Given the description of an element on the screen output the (x, y) to click on. 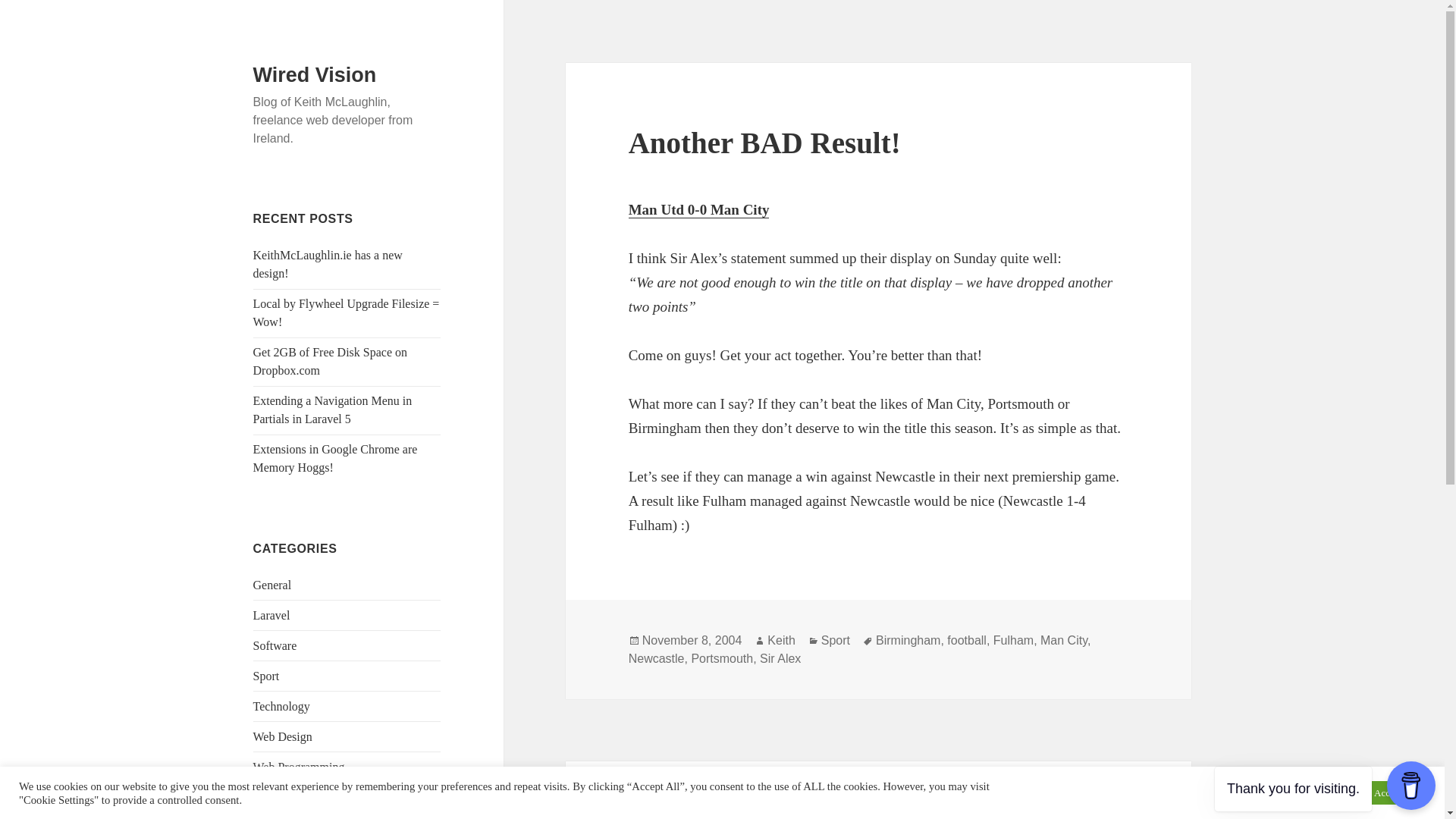
Technology (281, 706)
Web Programming (299, 766)
Extensions in Google Chrome are Memory Hoggs! (335, 458)
Software (275, 645)
Get 2GB of Free Disk Space on Dropbox.com (330, 360)
Sport (266, 675)
Wired Vision (315, 74)
Web Design (283, 736)
KeithMcLaughlin.ie has a new design! (328, 264)
General (272, 584)
